Given the description of an element on the screen output the (x, y) to click on. 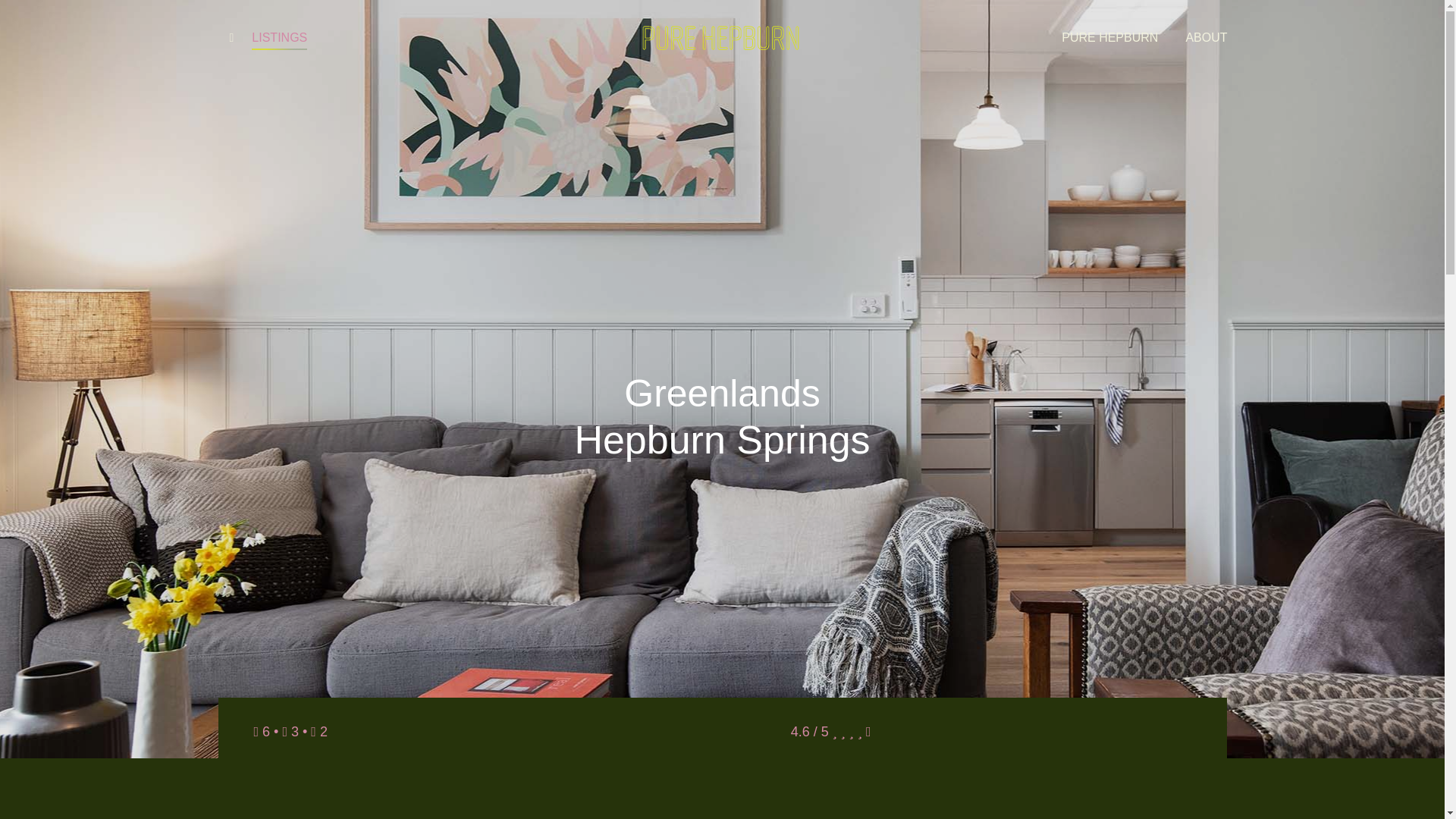
Go! (24, 16)
ABOUT (1206, 37)
LISTINGS (279, 37)
PURE HEPBURN (1109, 37)
